Given the description of an element on the screen output the (x, y) to click on. 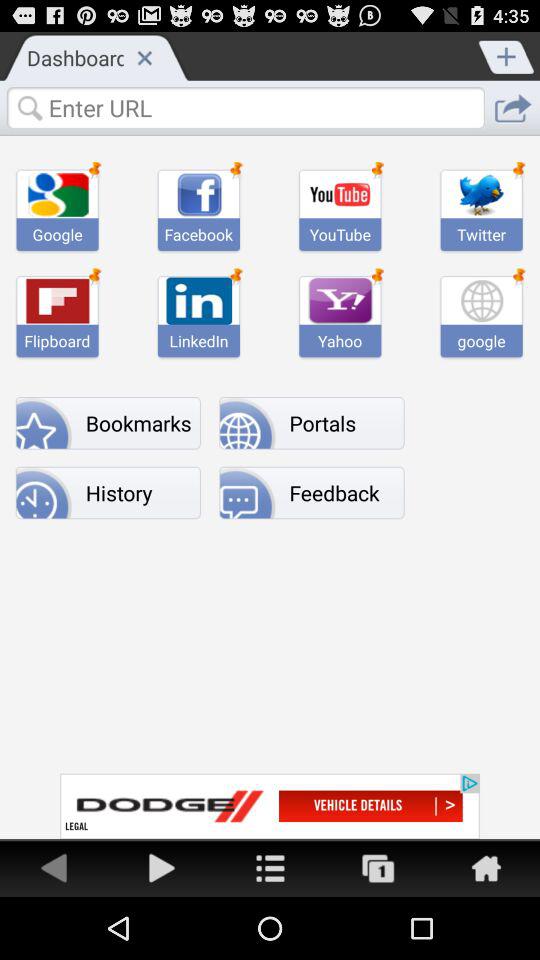
click on the button below bookmarks (108, 492)
click on the icon above flipboard (57, 299)
select the logo below youtube logo (340, 299)
click the close button on the web page (144, 57)
click on the pin icon which is on the top second image (237, 170)
